Given the description of an element on the screen output the (x, y) to click on. 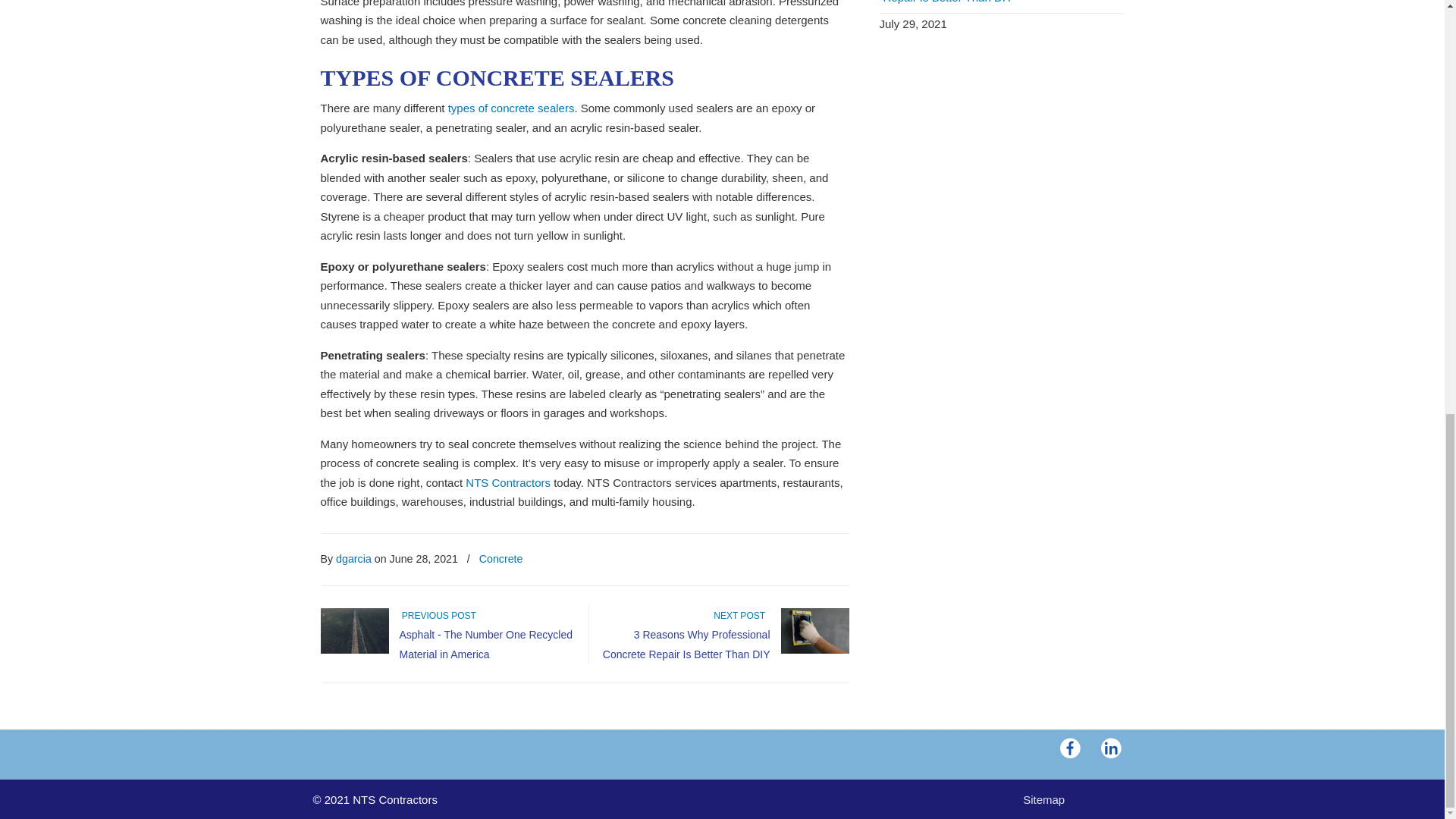
 types of concrete sealers (508, 107)
NTS Contractors (507, 481)
NEXT POST   (741, 615)
 PREVIOUS POST (437, 615)
Asphalt - The Number One Recycled Material in America (485, 644)
dgarcia (353, 558)
Go to next post (741, 615)
Go to previous post (437, 615)
Concrete (500, 558)
Posts by dgarcia (353, 558)
Asphalt - The Number One Recycled Material in America (485, 644)
